Given the description of an element on the screen output the (x, y) to click on. 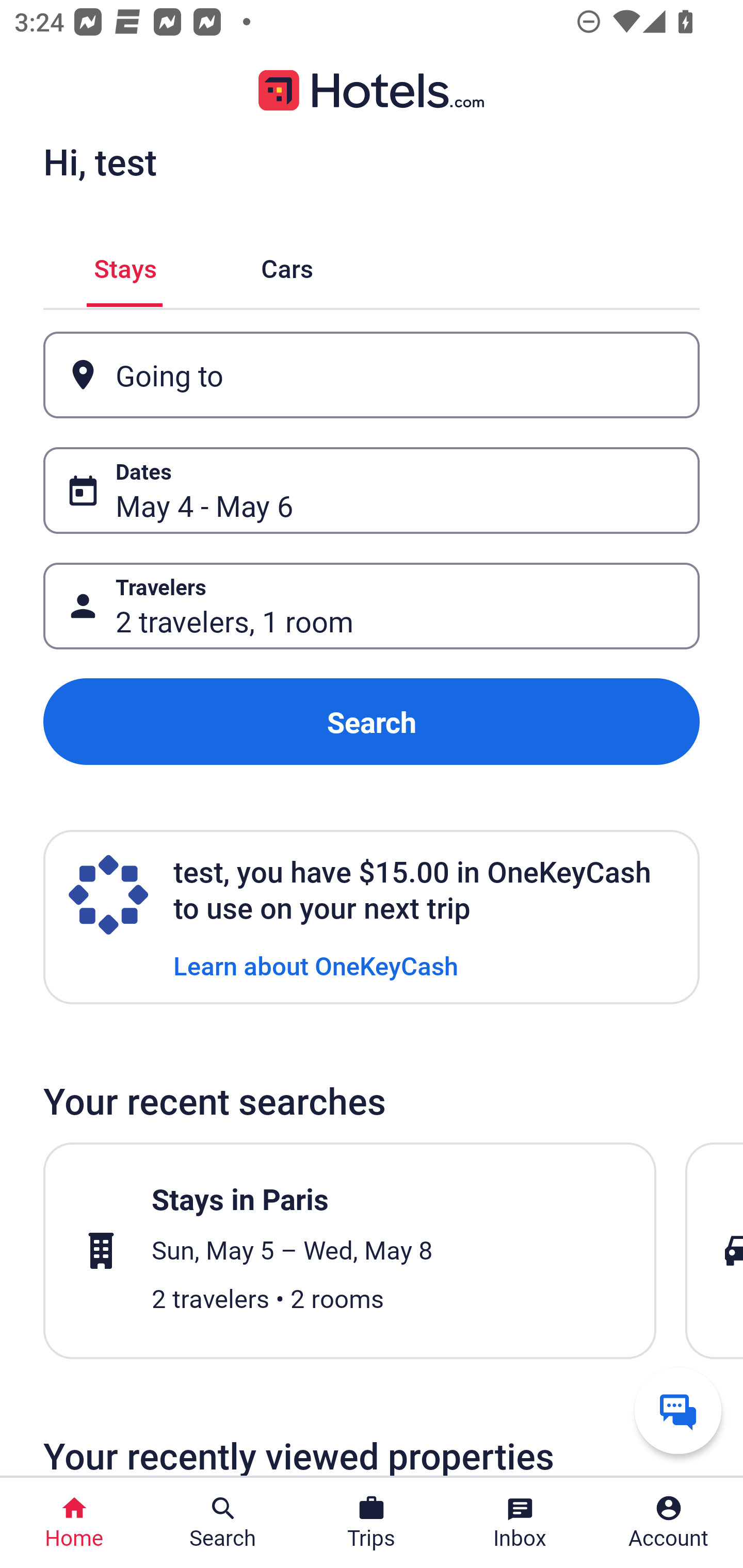
Hi, test (99, 161)
Cars (286, 265)
Going to Button (371, 375)
Dates Button May 4 - May 6 (371, 489)
Travelers Button 2 travelers, 1 room (371, 605)
Search (371, 721)
Learn about OneKeyCash Learn about OneKeyCash Link (315, 964)
Get help from a virtual agent (677, 1410)
Search Search Button (222, 1522)
Trips Trips Button (371, 1522)
Inbox Inbox Button (519, 1522)
Account Profile. Button (668, 1522)
